Given the description of an element on the screen output the (x, y) to click on. 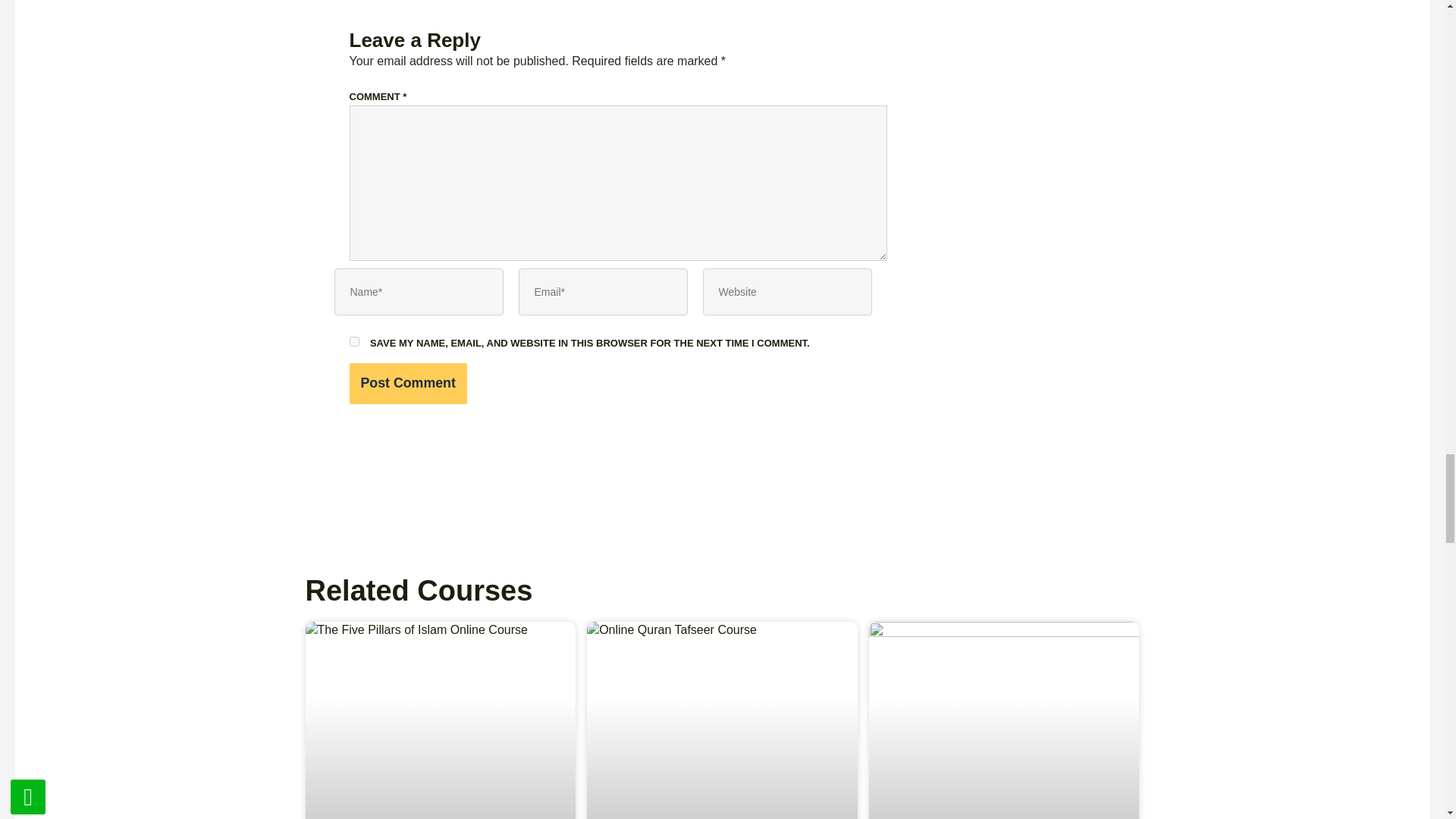
yes (353, 341)
Post Comment (407, 383)
